Given the description of an element on the screen output the (x, y) to click on. 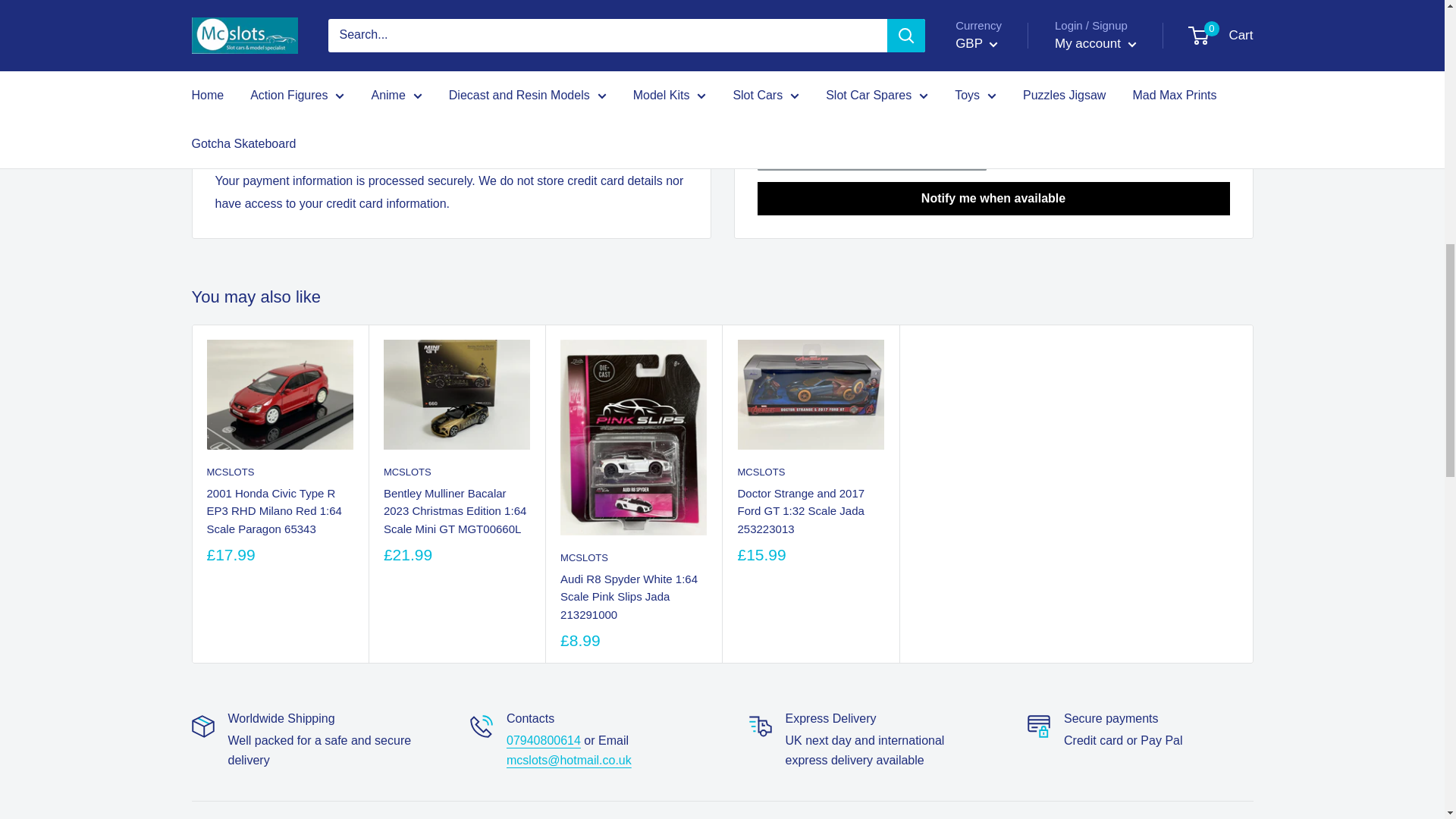
tel:07940800614 (543, 739)
